Given the description of an element on the screen output the (x, y) to click on. 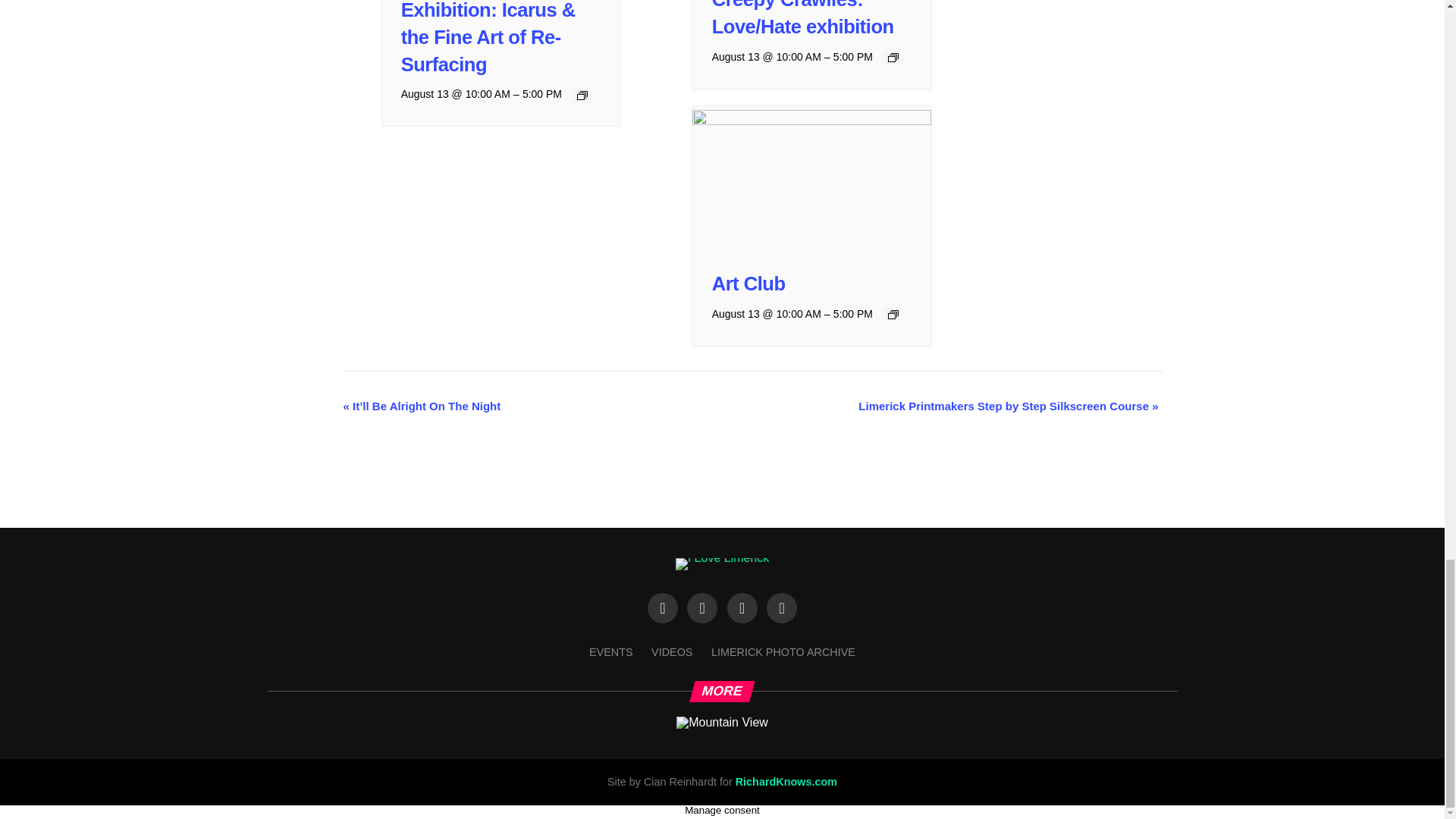
Event Series (582, 94)
Event Series (893, 57)
Event Series (893, 314)
